Given the description of an element on the screen output the (x, y) to click on. 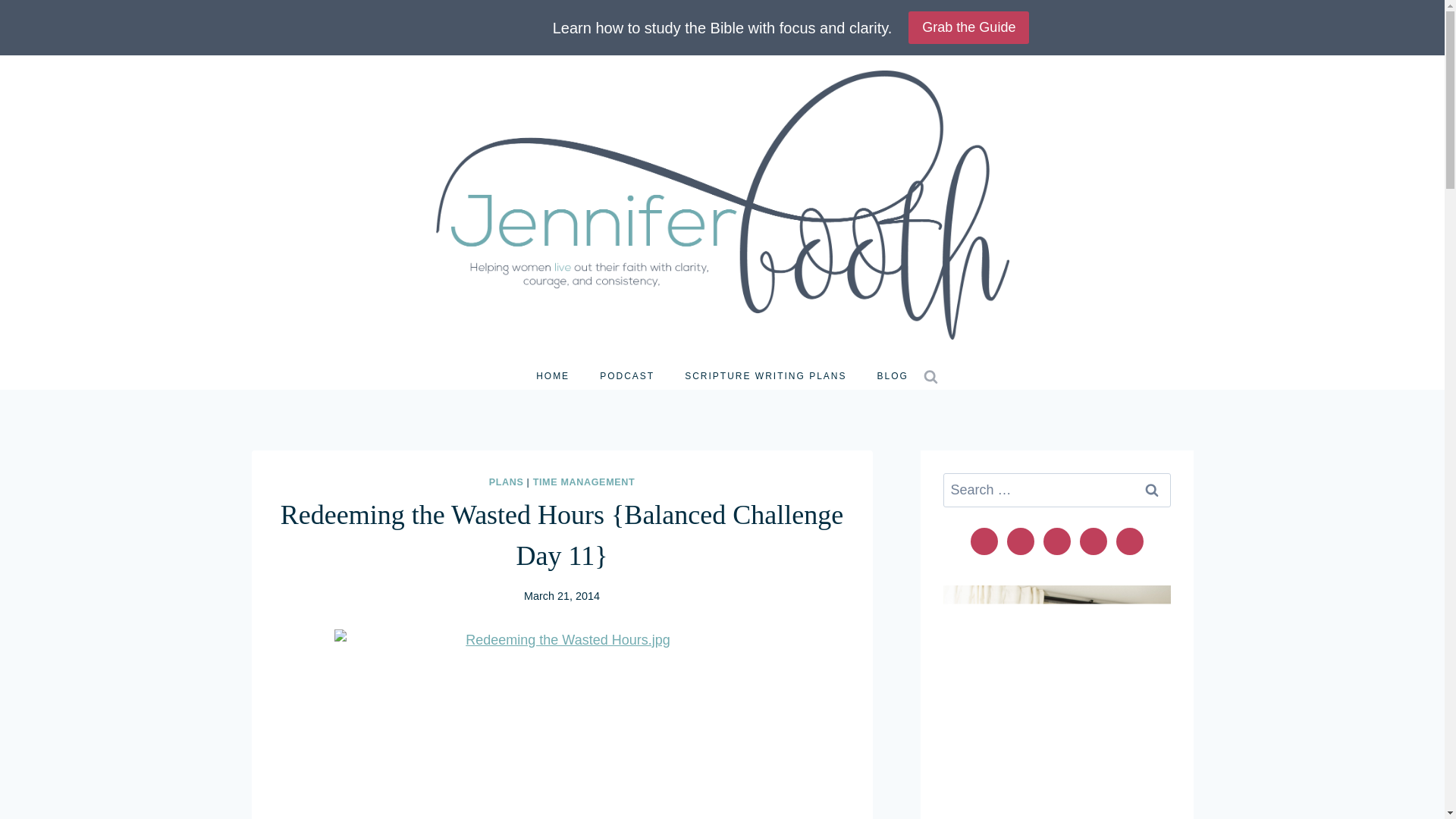
Search (1151, 488)
BLOG (892, 376)
TIME MANAGEMENT (583, 481)
PODCAST (627, 376)
Grab the Guide (968, 27)
Search (1151, 488)
PLANS (506, 481)
HOME (553, 376)
SCRIPTURE WRITING PLANS (765, 376)
